Given the description of an element on the screen output the (x, y) to click on. 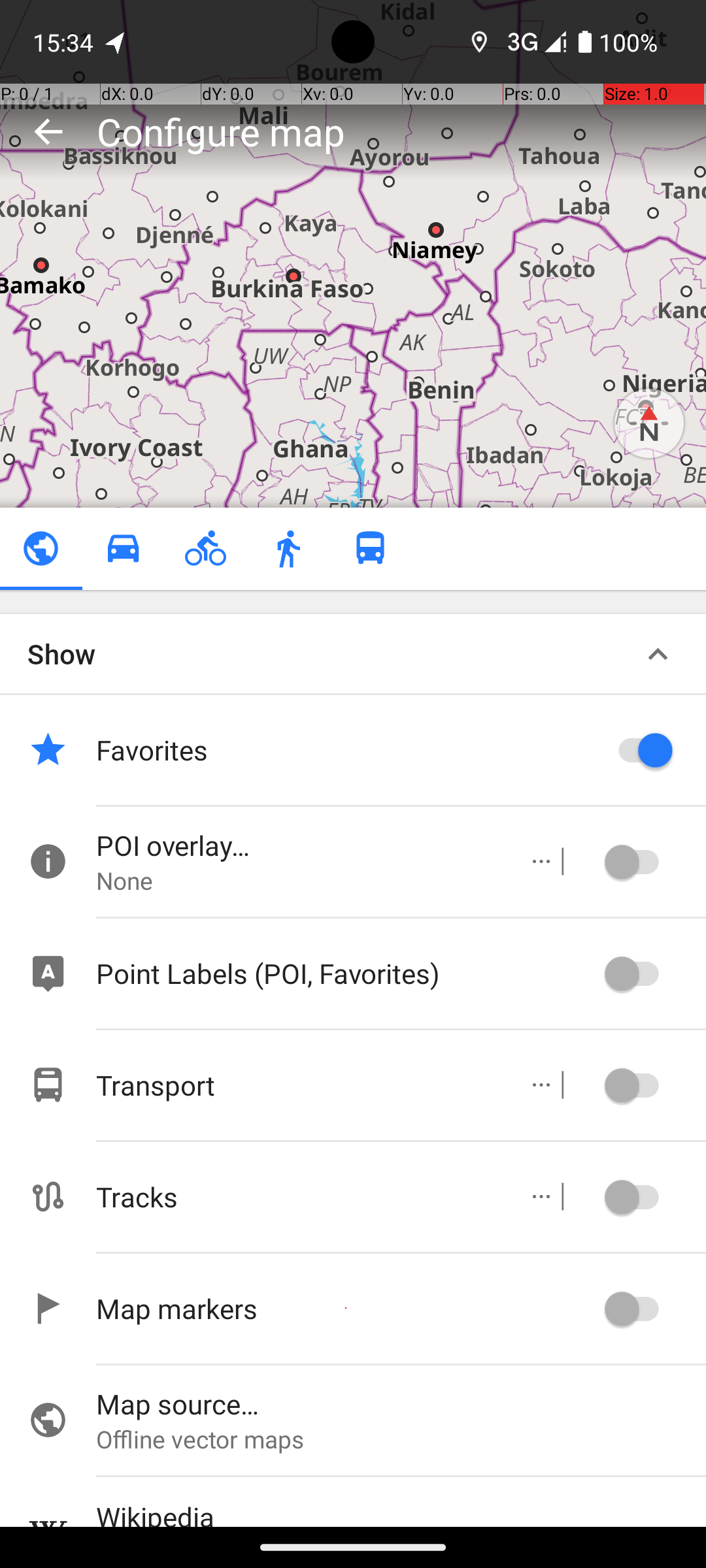
Back to map Element type: android.widget.ImageButton (48, 131)
Browse map checked Element type: android.widget.ImageView (40, 548)
Driving unchecked Element type: android.widget.ImageView (122, 548)
Cycling unchecked Element type: android.widget.ImageView (205, 548)
Show Element type: android.widget.TextView (61, 653)
Favorites Element type: android.widget.TextView (346, 749)
POI overlay… Element type: android.widget.TextView (298, 844)
Point Labels (POI, Favorites) Element type: android.widget.TextView (346, 972)
Transport Element type: android.widget.TextView (298, 1084)
Tracks Element type: android.widget.TextView (298, 1196)
Map markers Element type: android.widget.TextView (346, 1307)
Map source… Element type: android.widget.TextView (401, 1403)
Offline vector maps Element type: android.widget.TextView (401, 1438)
Wikipedia Element type: android.widget.TextView (401, 1512)
